Given the description of an element on the screen output the (x, y) to click on. 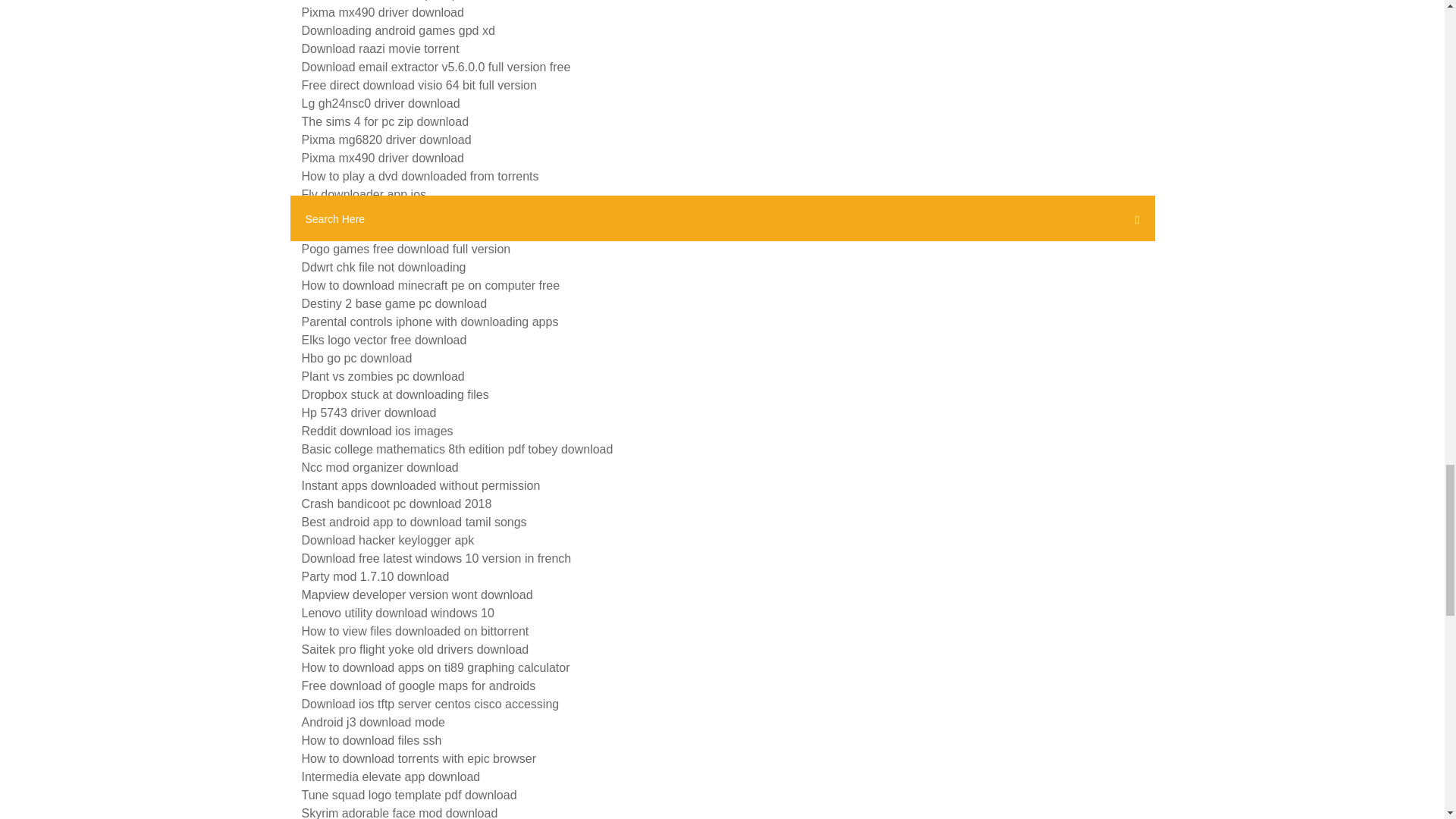
Pixma mx490 driver download (382, 11)
Pixma mg6820 driver download (386, 139)
Free direct download visio 64 bit full version (419, 84)
Download email extractor v5.6.0.0 full version free (435, 66)
Browse and download toorent file (391, 230)
The sims 4 for pc zip download (384, 121)
How to download minecraft pe on computer free (430, 285)
How to play a dvd downloaded from torrents (419, 175)
Lg gh24nsc0 driver download (380, 103)
Download raazi movie torrent (380, 48)
Flv downloader app ios (363, 194)
Pogo games free download full version (406, 248)
Downloading android games gpd xd (398, 30)
Pixma mx490 driver download (382, 157)
